Given the description of an element on the screen output the (x, y) to click on. 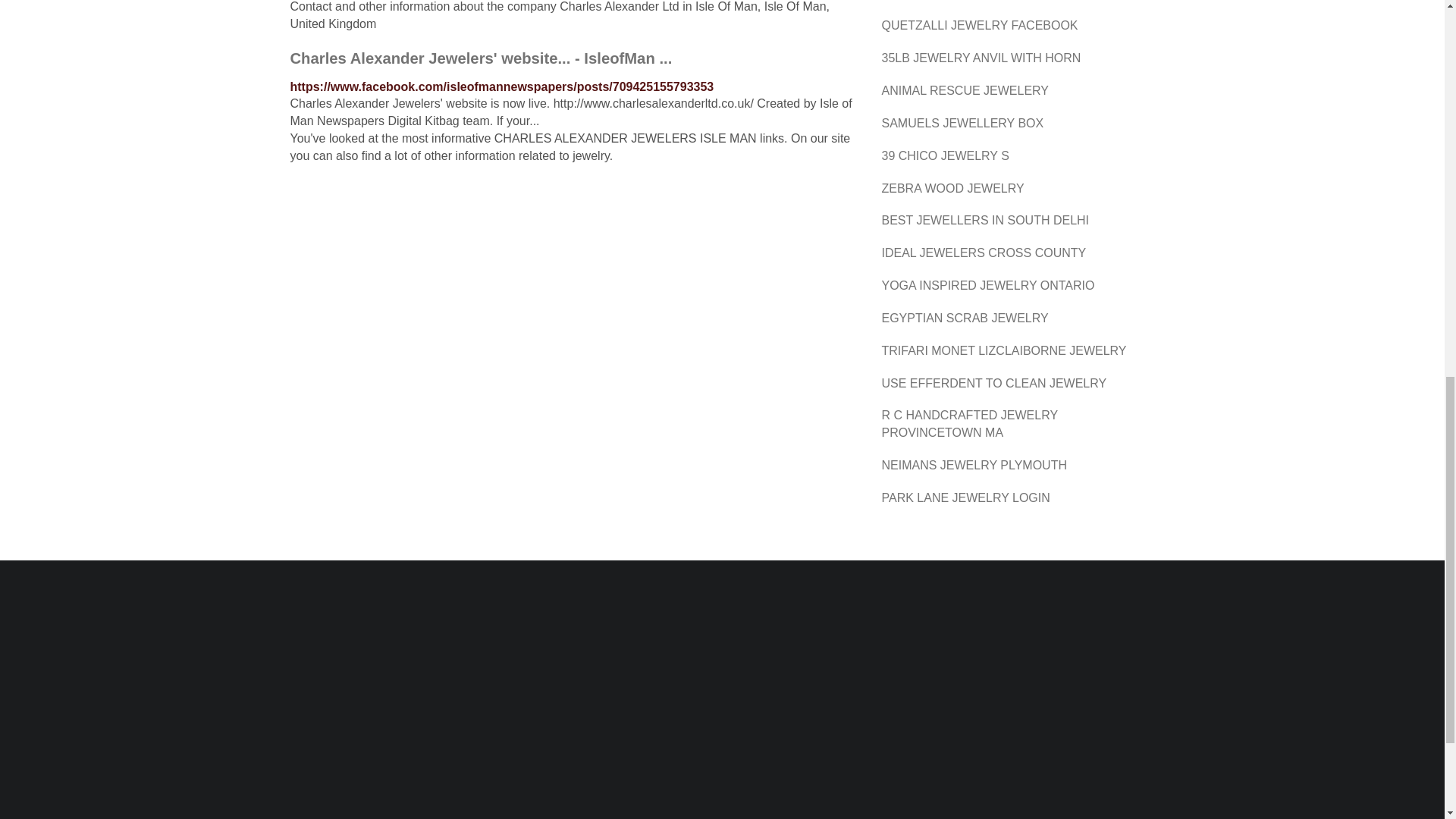
YOGA INSPIRED JEWELRY ONTARIO (987, 285)
IDEAL JEWELERS CROSS COUNTY (983, 252)
ANIMAL RESCUE JEWELERY (964, 90)
39 CHICO JEWELRY S (944, 155)
Charles Alexander Jewelers' website... - IsleofMan ... (480, 57)
ZEBRA WOOD JEWELRY (951, 187)
EGYPTIAN SCRAB JEWELRY (964, 318)
BEST JEWELLERS IN SOUTH DELHI (984, 219)
QUETZALLI JEWELRY FACEBOOK (978, 24)
35LB JEWELRY ANVIL WITH HORN (980, 57)
